Given the description of an element on the screen output the (x, y) to click on. 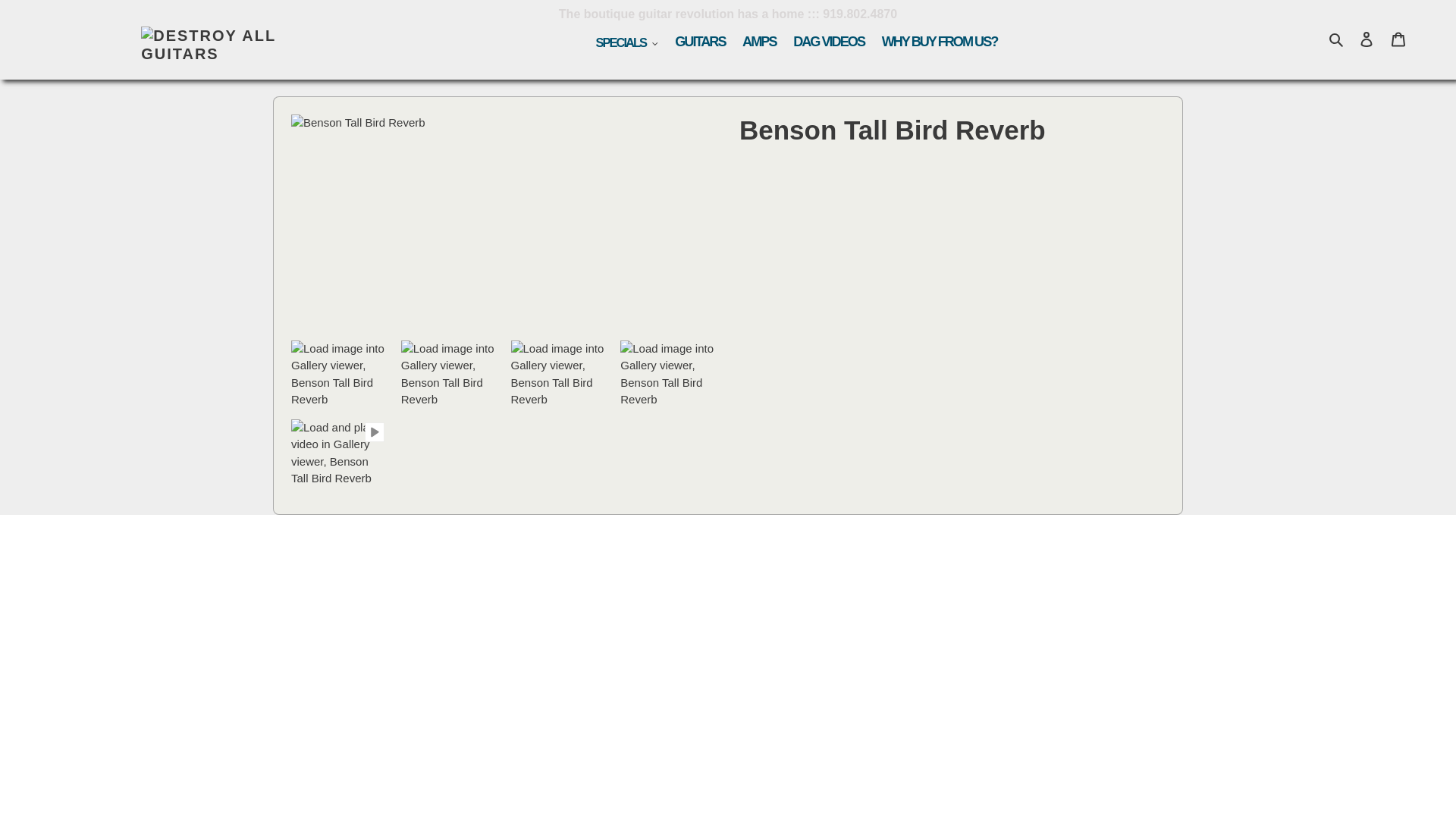
GUITARS (699, 41)
WHY BUY FROM US? (940, 41)
SPECIALS (626, 42)
Search (1337, 38)
DAG VIDEOS (829, 41)
AMPS (759, 41)
Cart (1397, 38)
Log in (1366, 38)
